Given the description of an element on the screen output the (x, y) to click on. 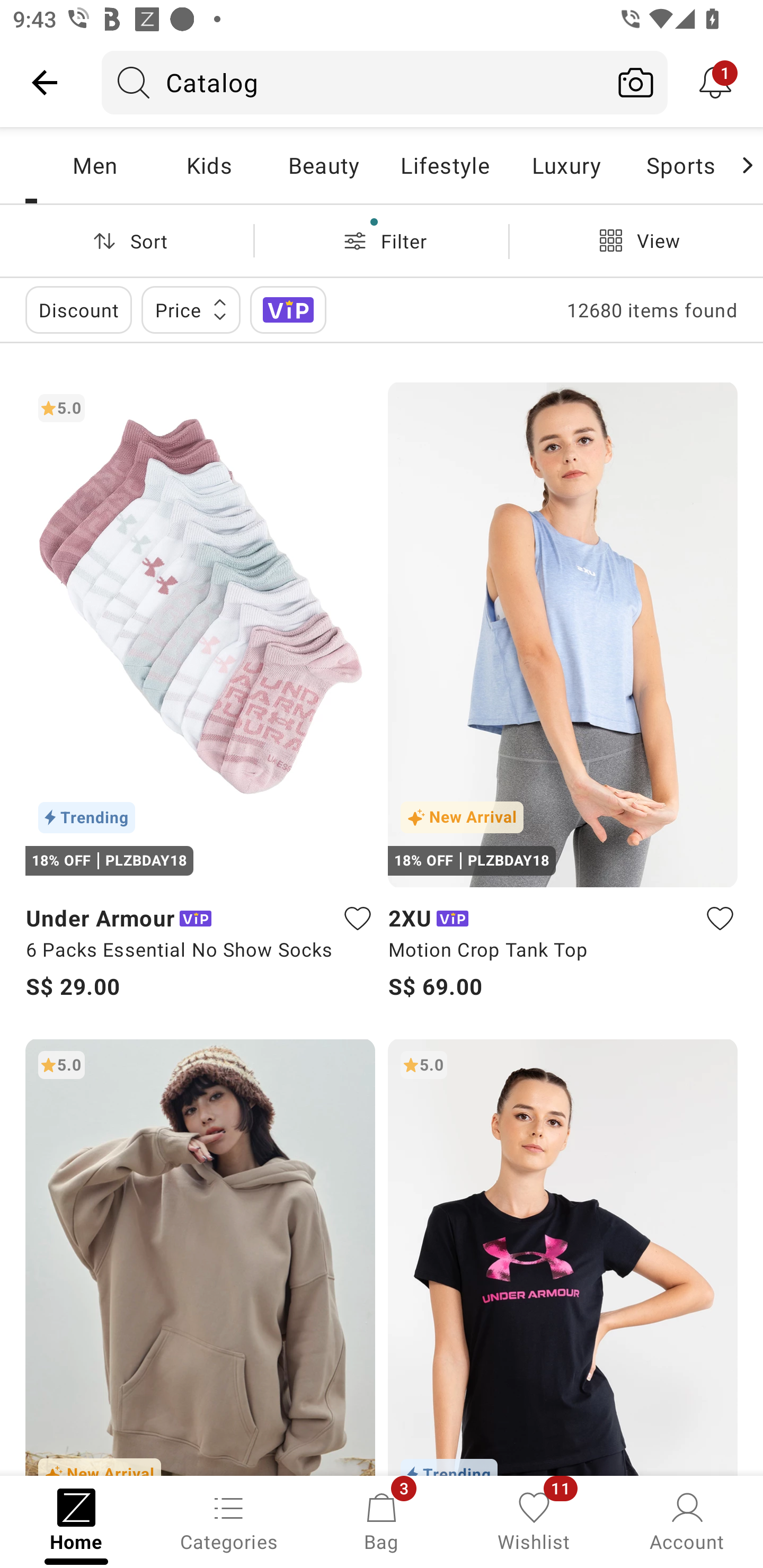
Navigate up (44, 82)
Catalog (352, 82)
Men (94, 165)
Kids (208, 165)
Beauty (323, 165)
Lifestyle (444, 165)
Luxury (565, 165)
Sports (680, 165)
Sort (126, 240)
Filter (381, 240)
View (636, 240)
Discount (78, 309)
Price (190, 309)
5.0 New Arrival (200, 1256)
5.0 Trending (562, 1256)
Categories (228, 1519)
Bag, 3 new notifications Bag (381, 1519)
Wishlist, 11 new notifications Wishlist (533, 1519)
Account (686, 1519)
